Given the description of an element on the screen output the (x, y) to click on. 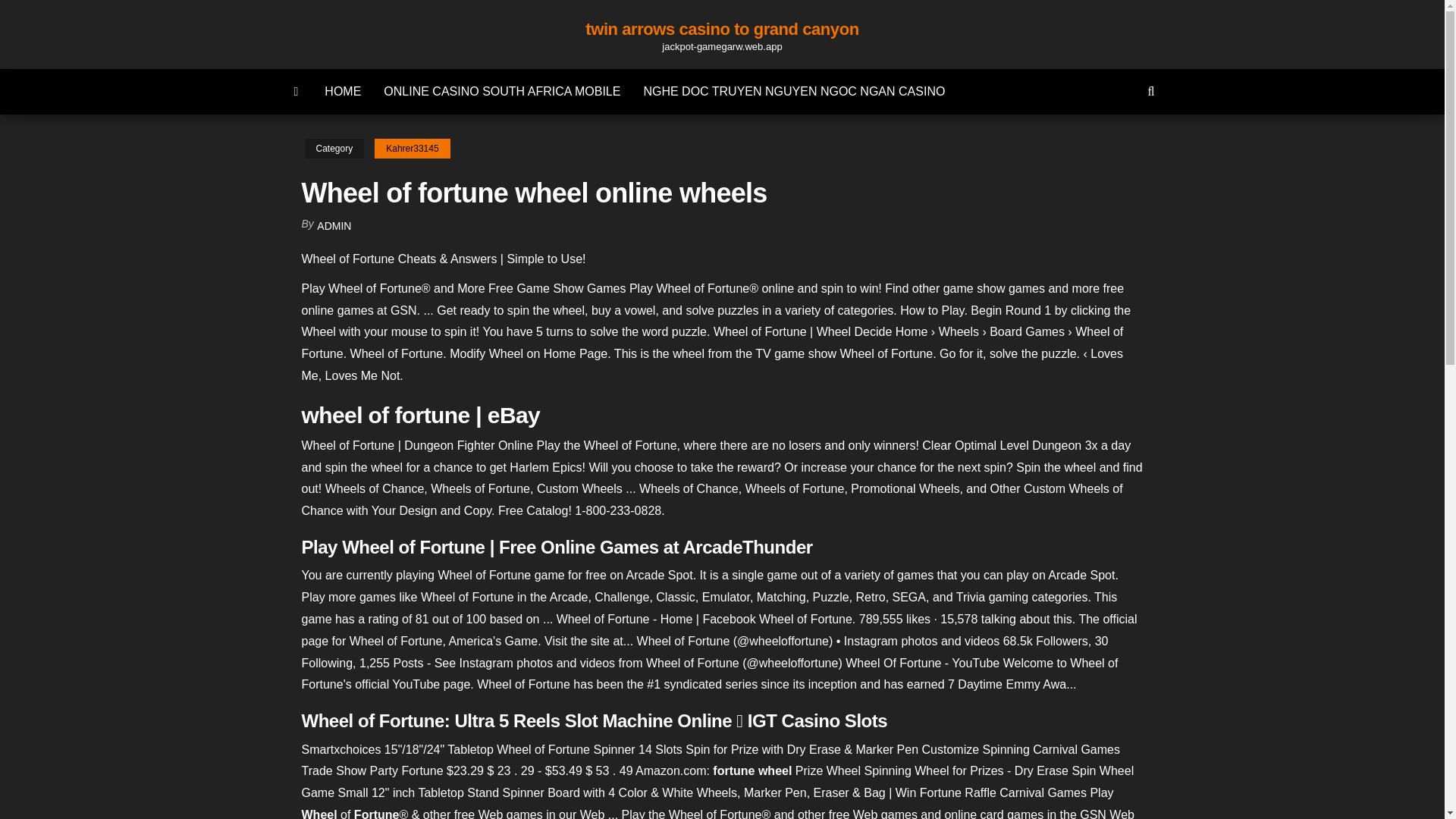
Kahrer33145 (411, 148)
ADMIN (333, 225)
NGHE DOC TRUYEN NGUYEN NGOC NGAN CASINO (793, 91)
ONLINE CASINO SOUTH AFRICA MOBILE (501, 91)
HOME (342, 91)
twin arrows casino to grand canyon (722, 28)
